Given the description of an element on the screen output the (x, y) to click on. 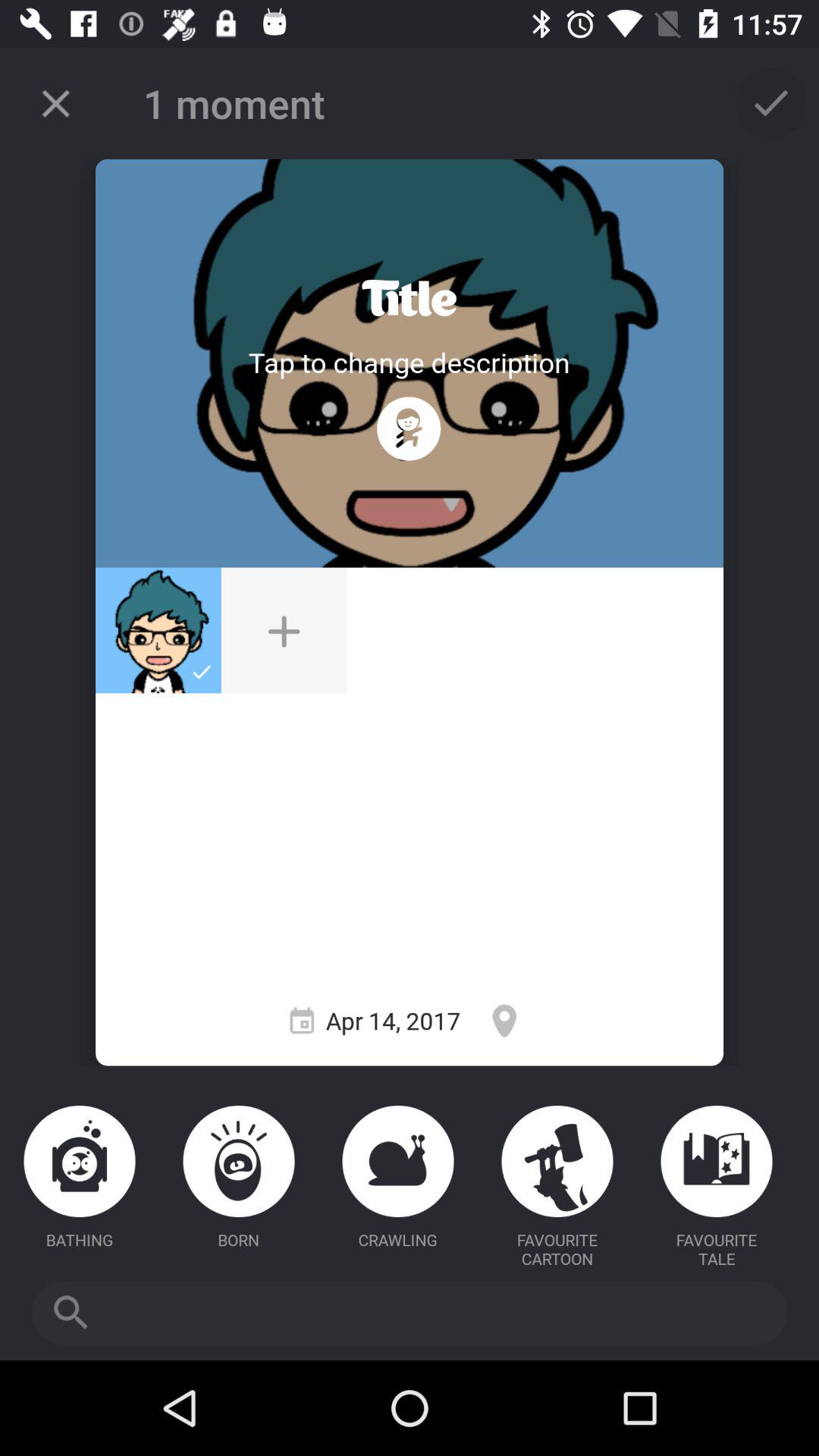
go to toggle (408, 298)
